Given the description of an element on the screen output the (x, y) to click on. 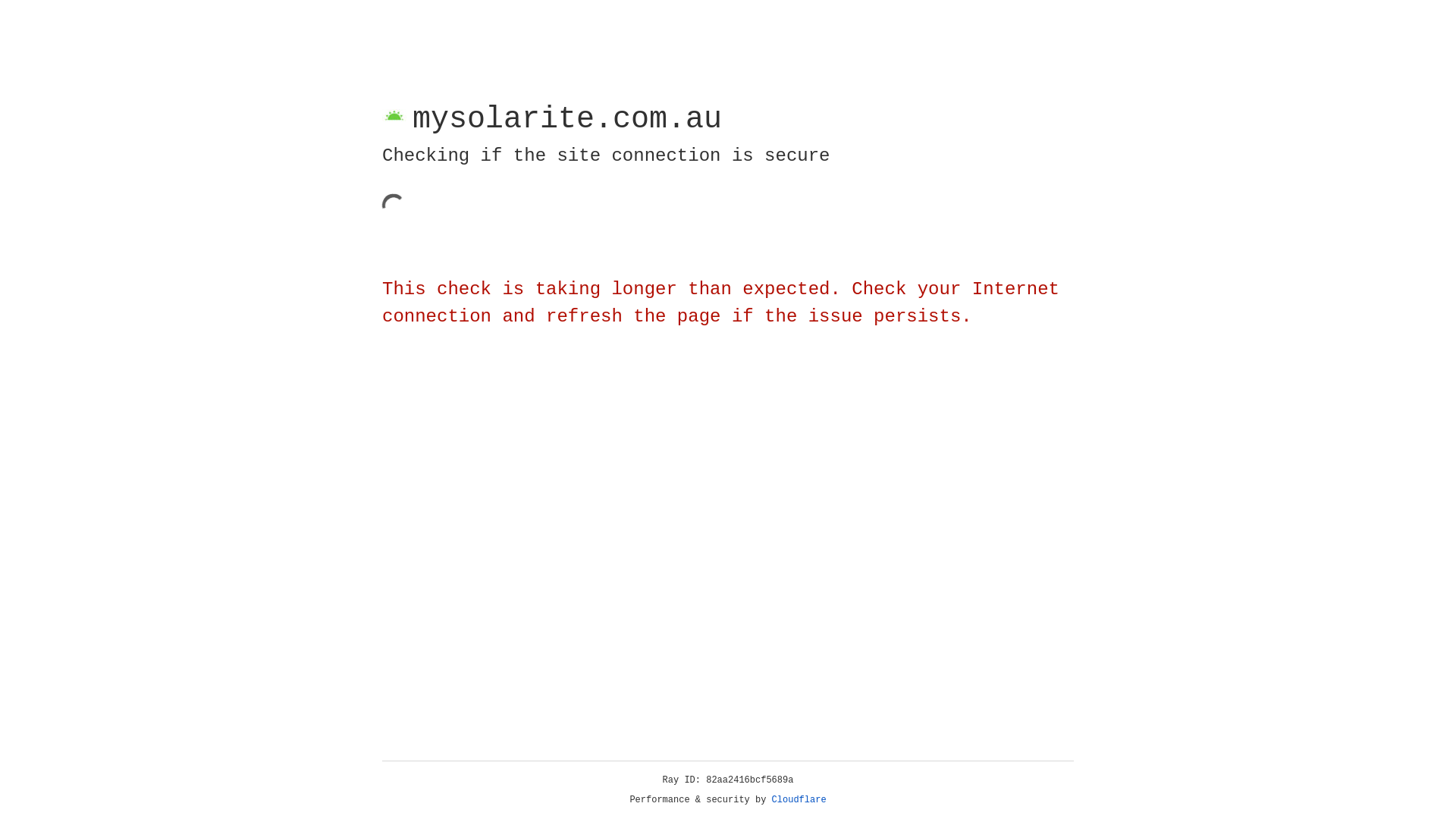
Cloudflare Element type: text (798, 799)
